Given the description of an element on the screen output the (x, y) to click on. 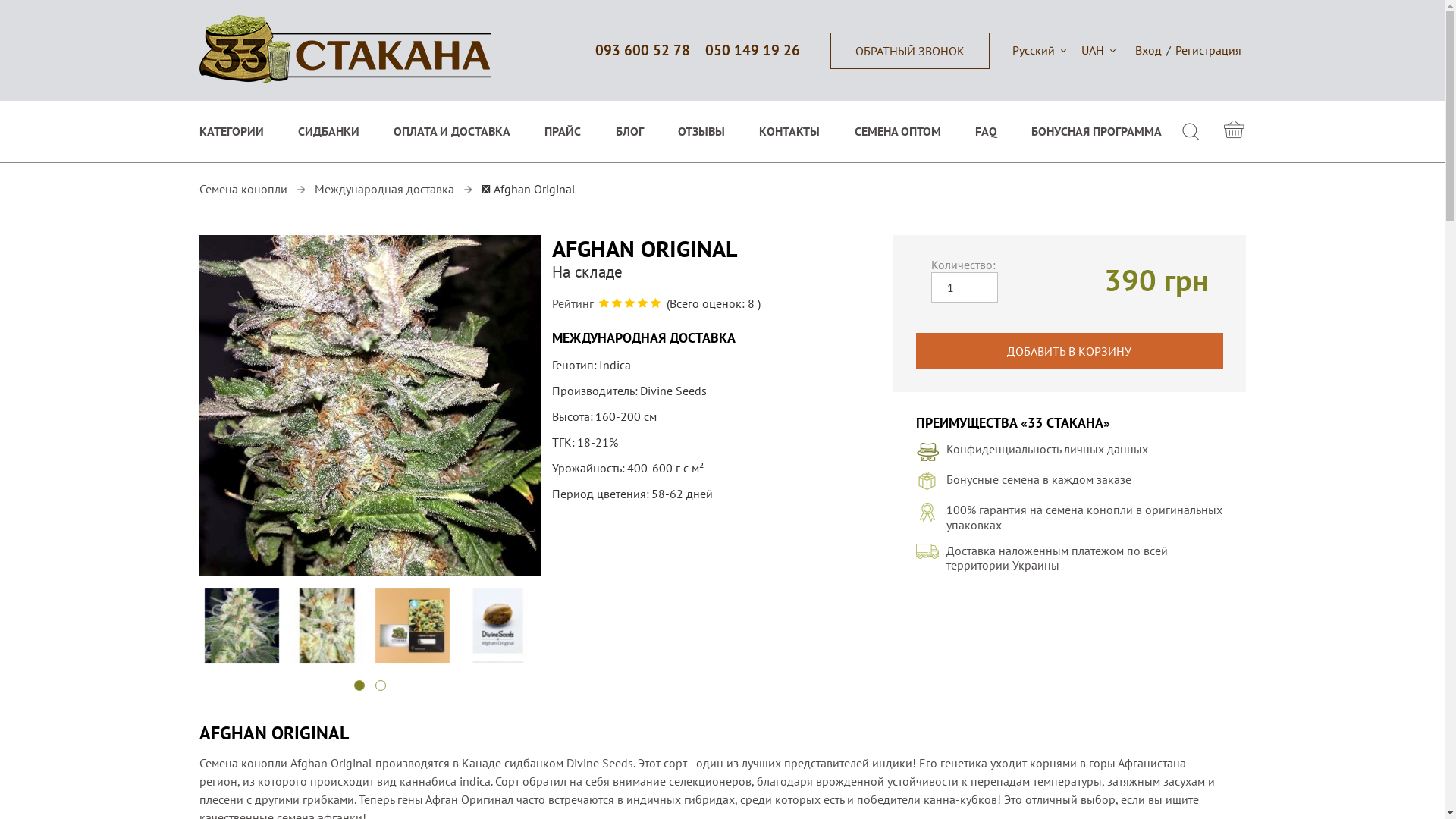
093 600 52 78 Element type: text (641, 50)
Afghan Original Element type: hover (368, 407)
050 149 19 26 Element type: text (752, 50)
FAQ Element type: text (986, 131)
Afghan Original Element type: hover (497, 625)
